Given the description of an element on the screen output the (x, y) to click on. 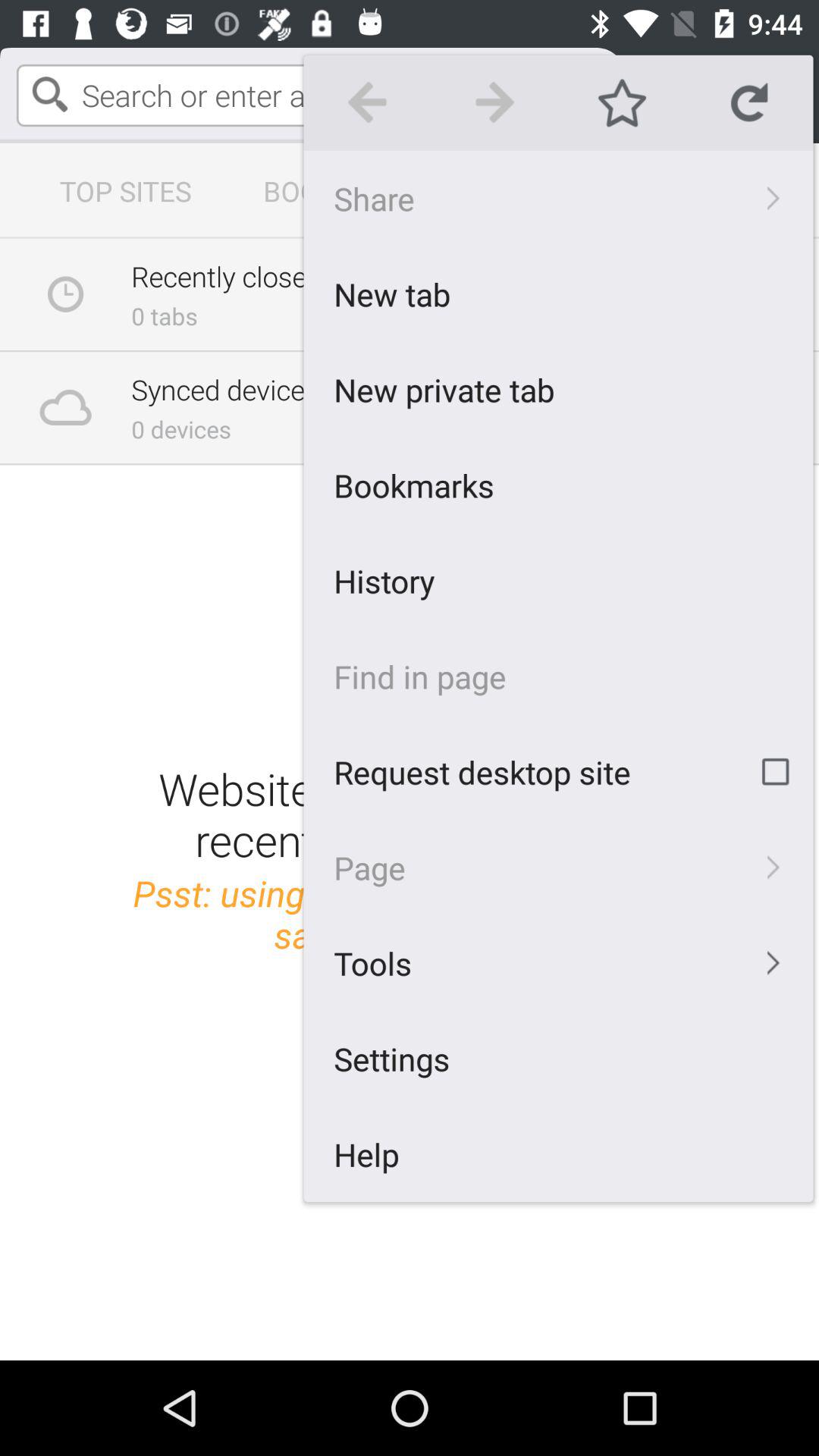
choose share (558, 198)
